Given the description of an element on the screen output the (x, y) to click on. 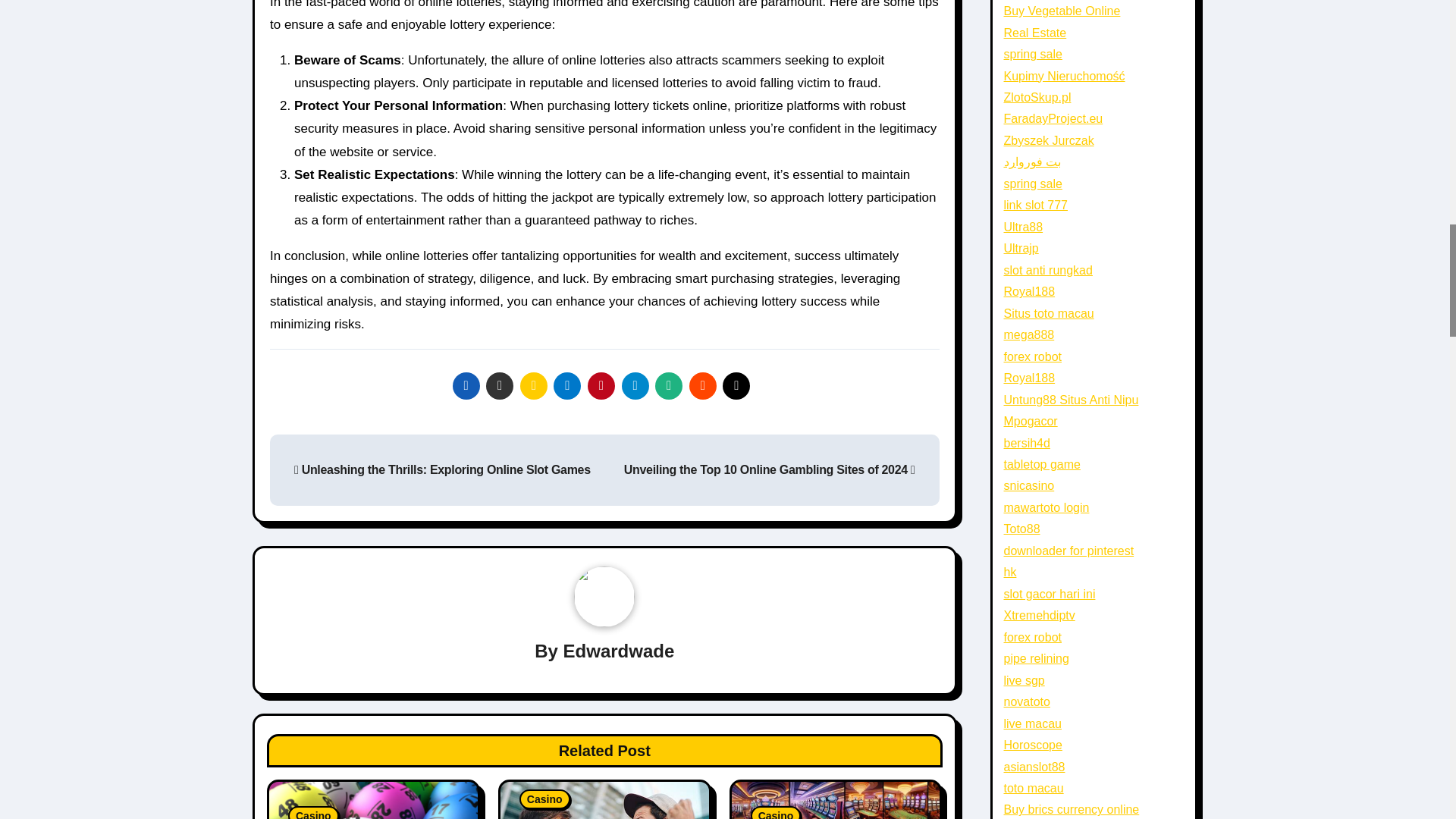
Unveiling the Top 10 Online Gambling Sites of 2024 (769, 469)
Unleashing the Thrills: Exploring Online Slot Games (442, 469)
Edwardwade (619, 650)
Casino (313, 812)
